Given the description of an element on the screen output the (x, y) to click on. 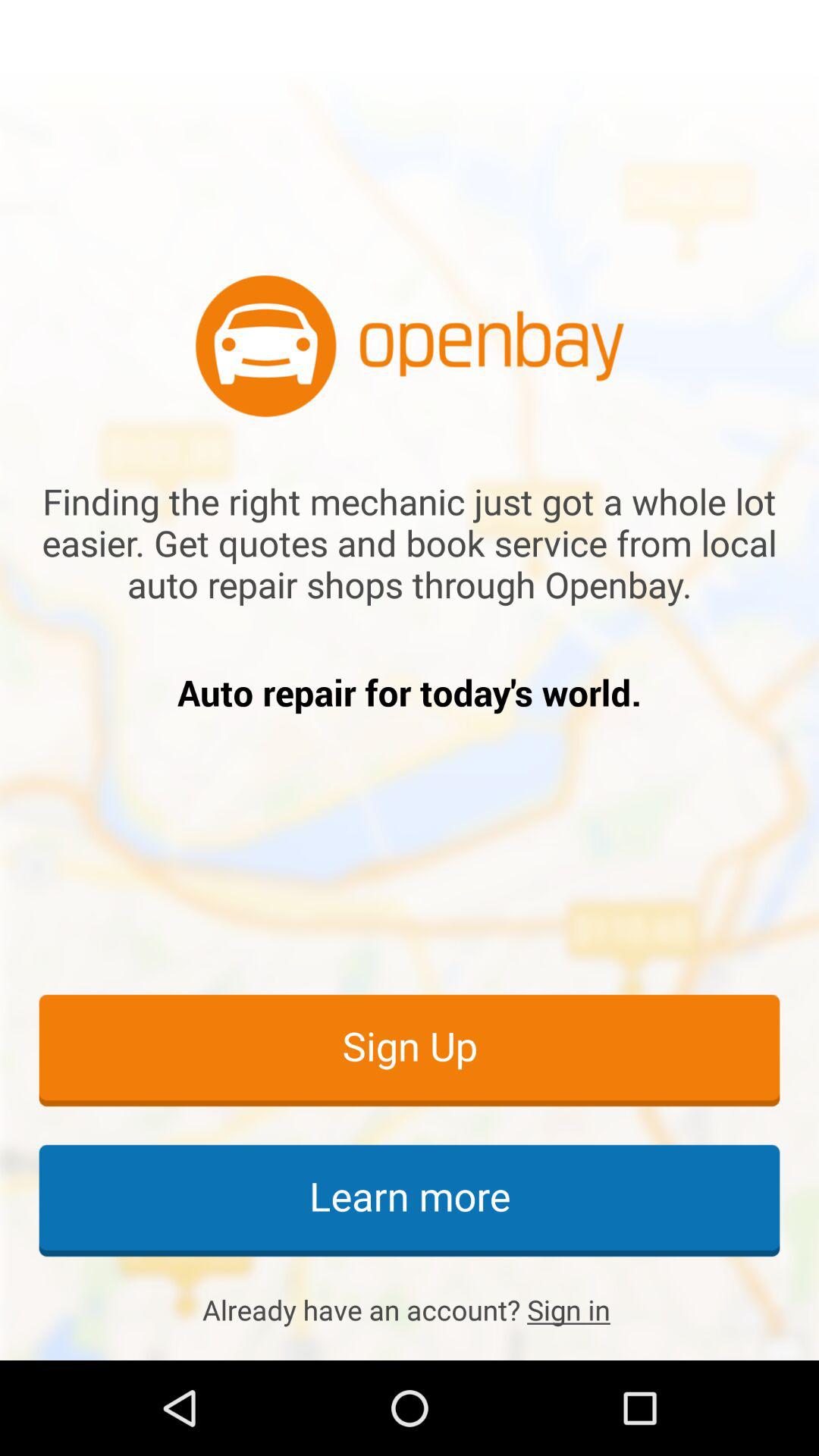
flip to already have an item (409, 1309)
